Given the description of an element on the screen output the (x, y) to click on. 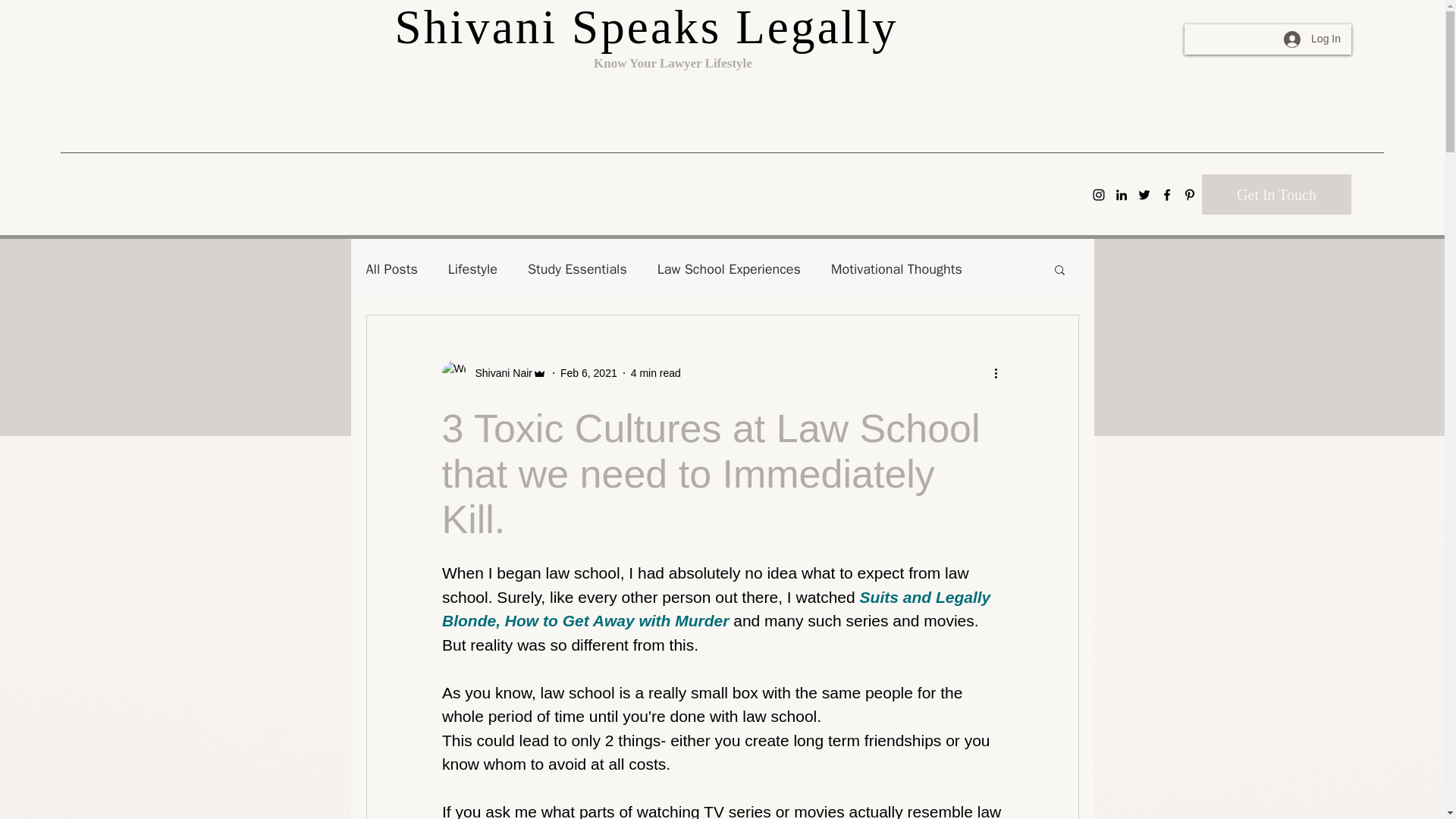
4 min read (655, 372)
Log In (1311, 39)
Motivational Thoughts (896, 269)
Shivani Nair (498, 373)
Shivani Speaks Legally (646, 27)
Law School Experiences (729, 269)
Study Essentials (577, 269)
All Posts (390, 269)
Lifestyle (472, 269)
Shivani Nair (493, 372)
